Given the description of an element on the screen output the (x, y) to click on. 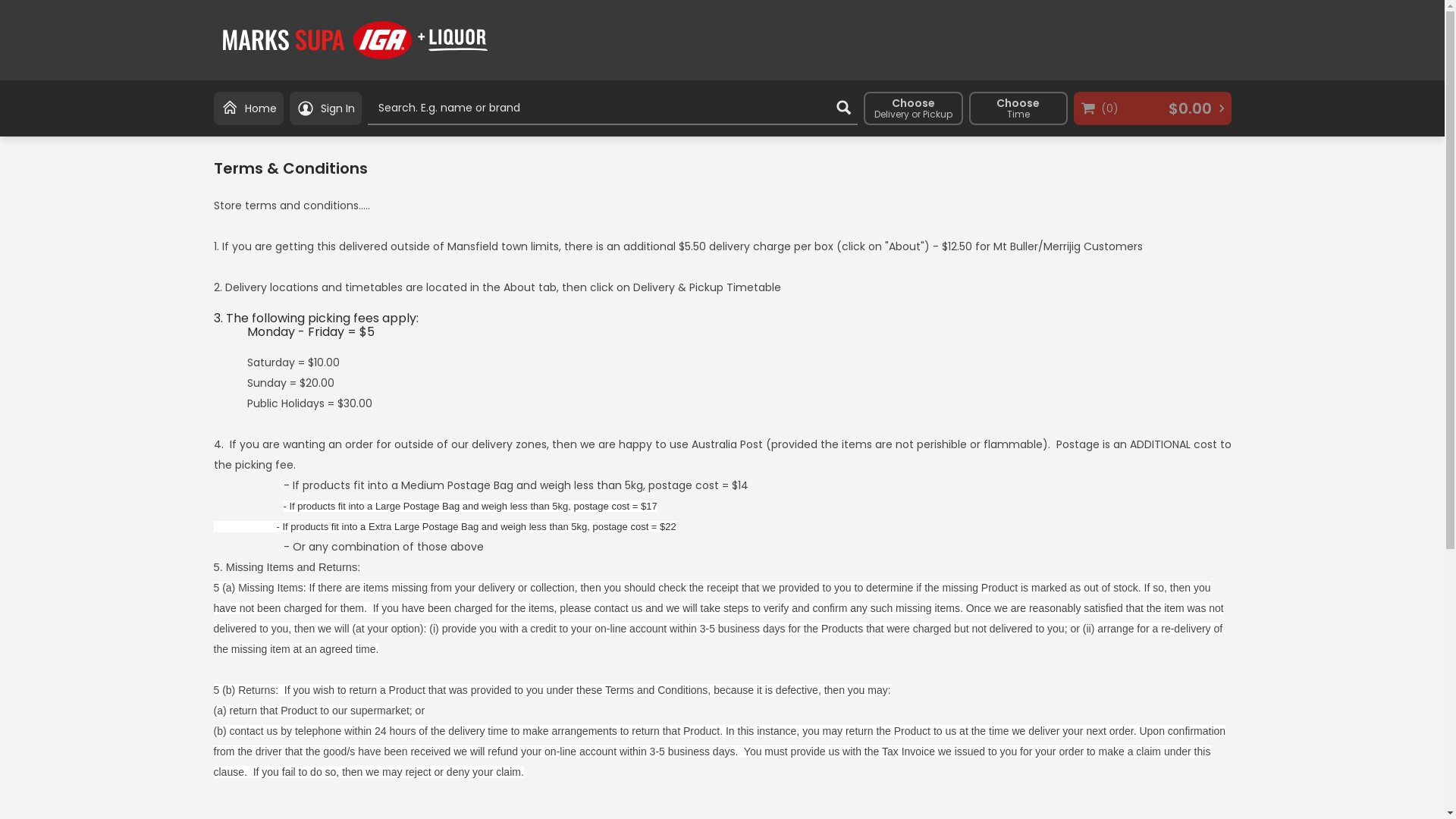
Sign In Element type: text (325, 108)
Search Element type: hover (842, 107)
(0)
$0.00 Element type: text (1152, 108)
Choose
Time Element type: text (1018, 108)
Choose
Delivery or Pickup Element type: text (912, 108)
Home Element type: text (248, 108)
